Given the description of an element on the screen output the (x, y) to click on. 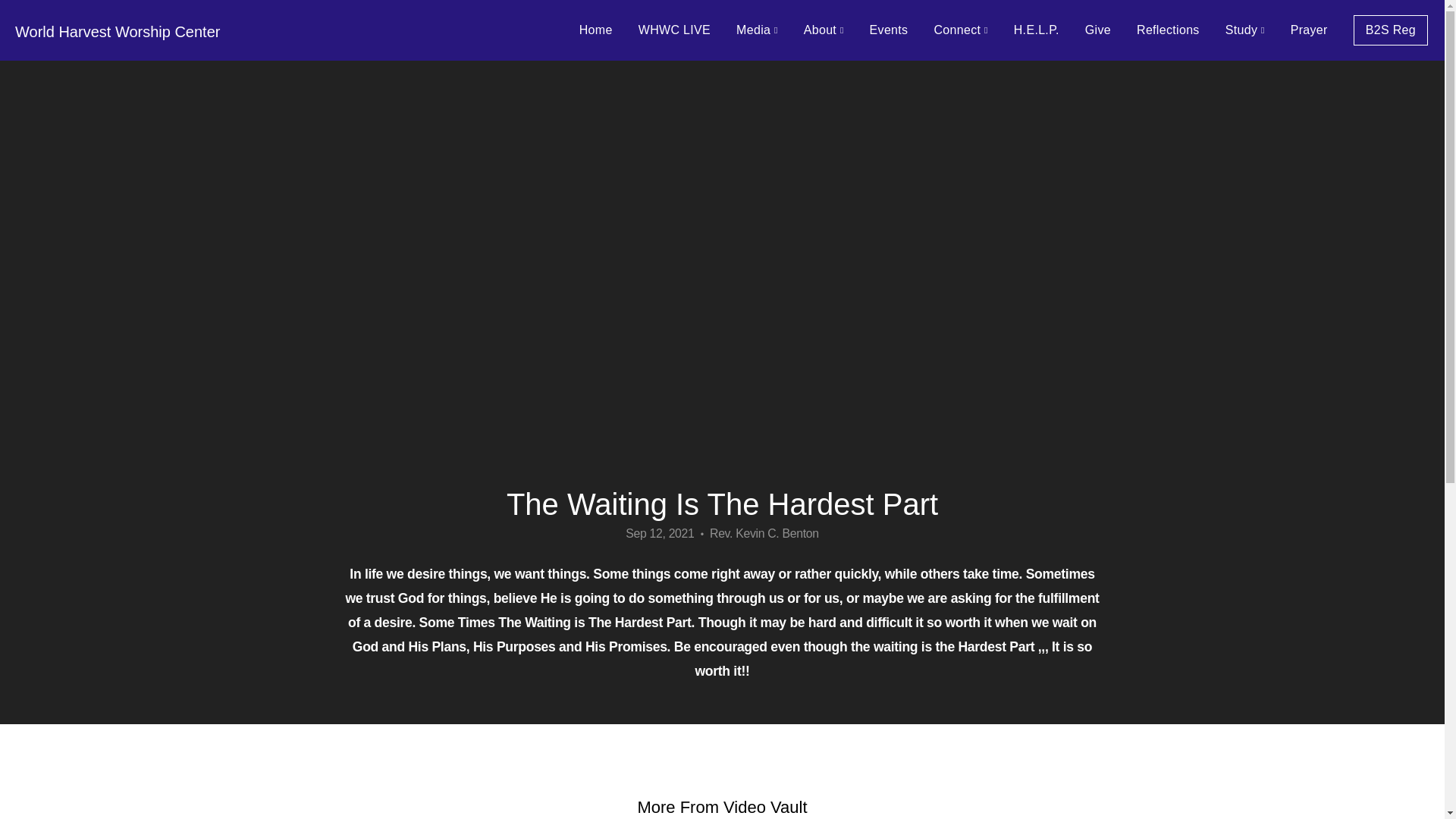
Study  (1245, 30)
Home (595, 30)
Events (889, 30)
Media  (757, 30)
Reflections (1168, 30)
Prayer (1309, 30)
H.E.L.P. (1036, 30)
WHWC LIVE (674, 30)
Give (1098, 30)
B2S Reg (1391, 30)
About  (824, 30)
Connect  (959, 30)
